Given the description of an element on the screen output the (x, y) to click on. 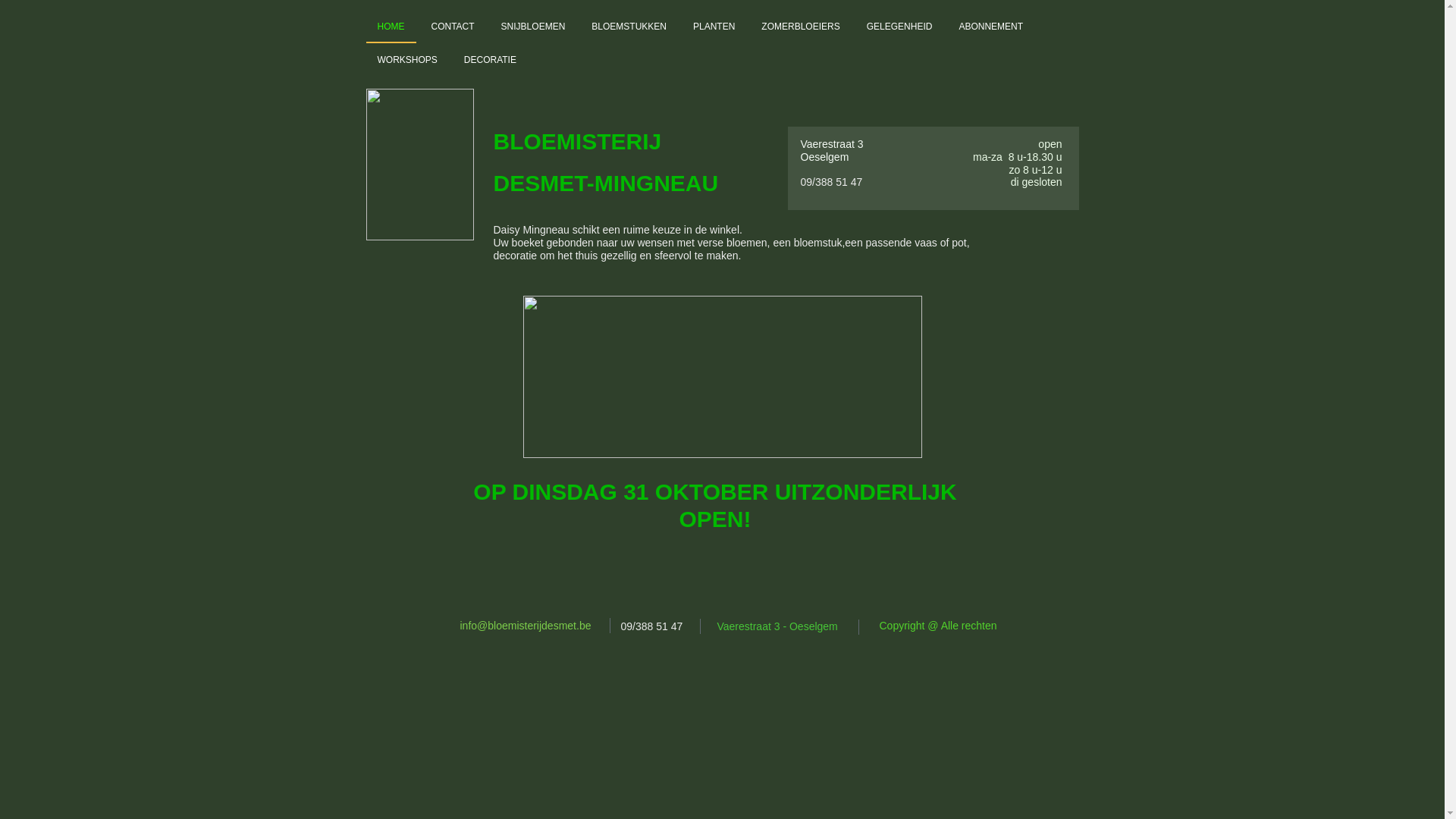
DECORATIE Element type: text (489, 59)
ZOMERBLOEIERS Element type: text (799, 26)
ABONNEMENT Element type: text (990, 26)
CONTACT Element type: text (453, 26)
PLANTEN Element type: text (713, 26)
info@bloemisterijdesmet.be Element type: text (524, 625)
BLOEMSTUKKEN Element type: text (628, 26)
WORKSHOPS Element type: text (406, 59)
GELEGENHEID Element type: text (899, 26)
HOME Element type: text (390, 26)
SNIJBLOEMEN Element type: text (533, 26)
